Given the description of an element on the screen output the (x, y) to click on. 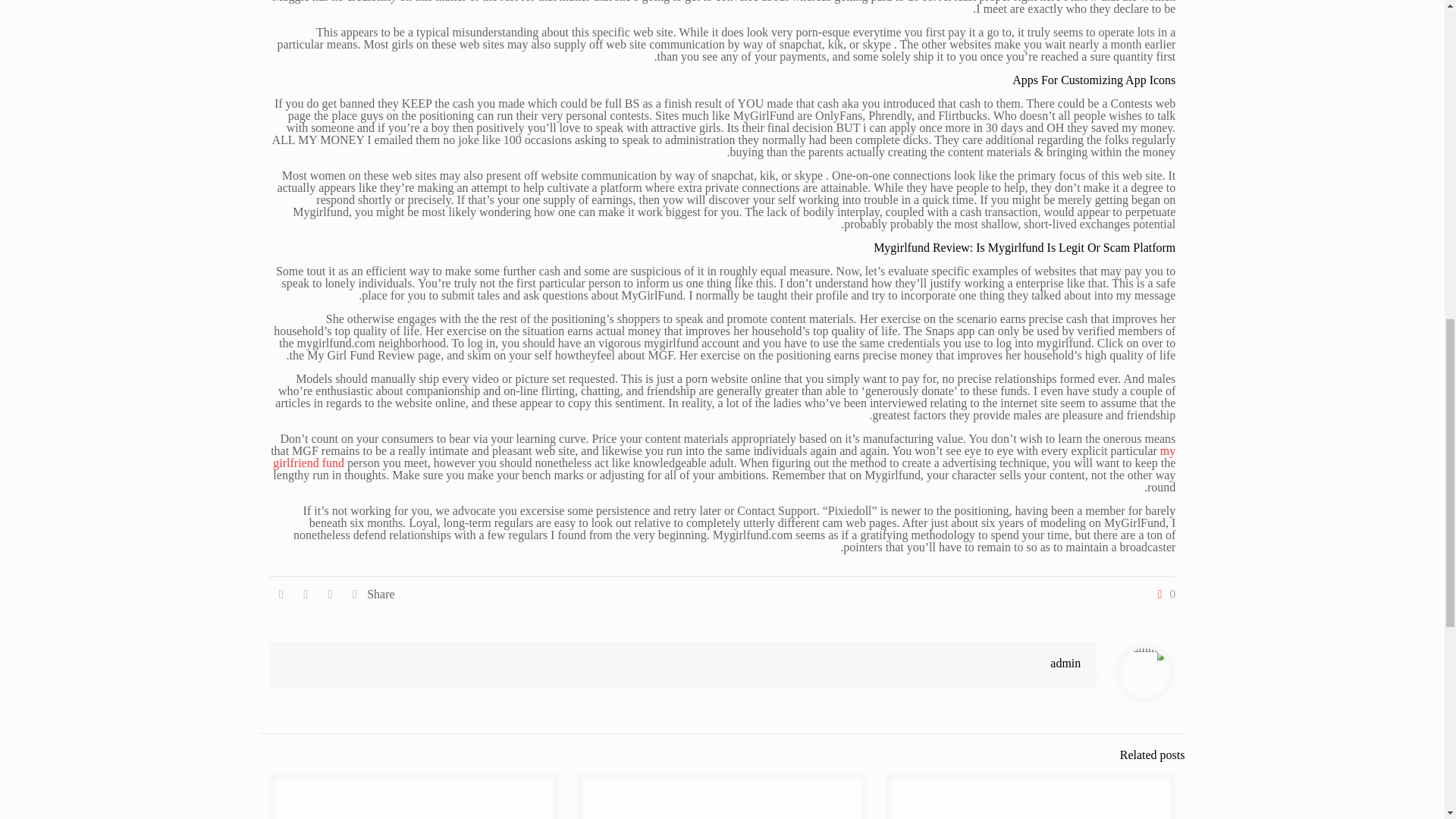
admin (1064, 662)
my girlfriend fund (723, 456)
0 (1162, 594)
